Given the description of an element on the screen output the (x, y) to click on. 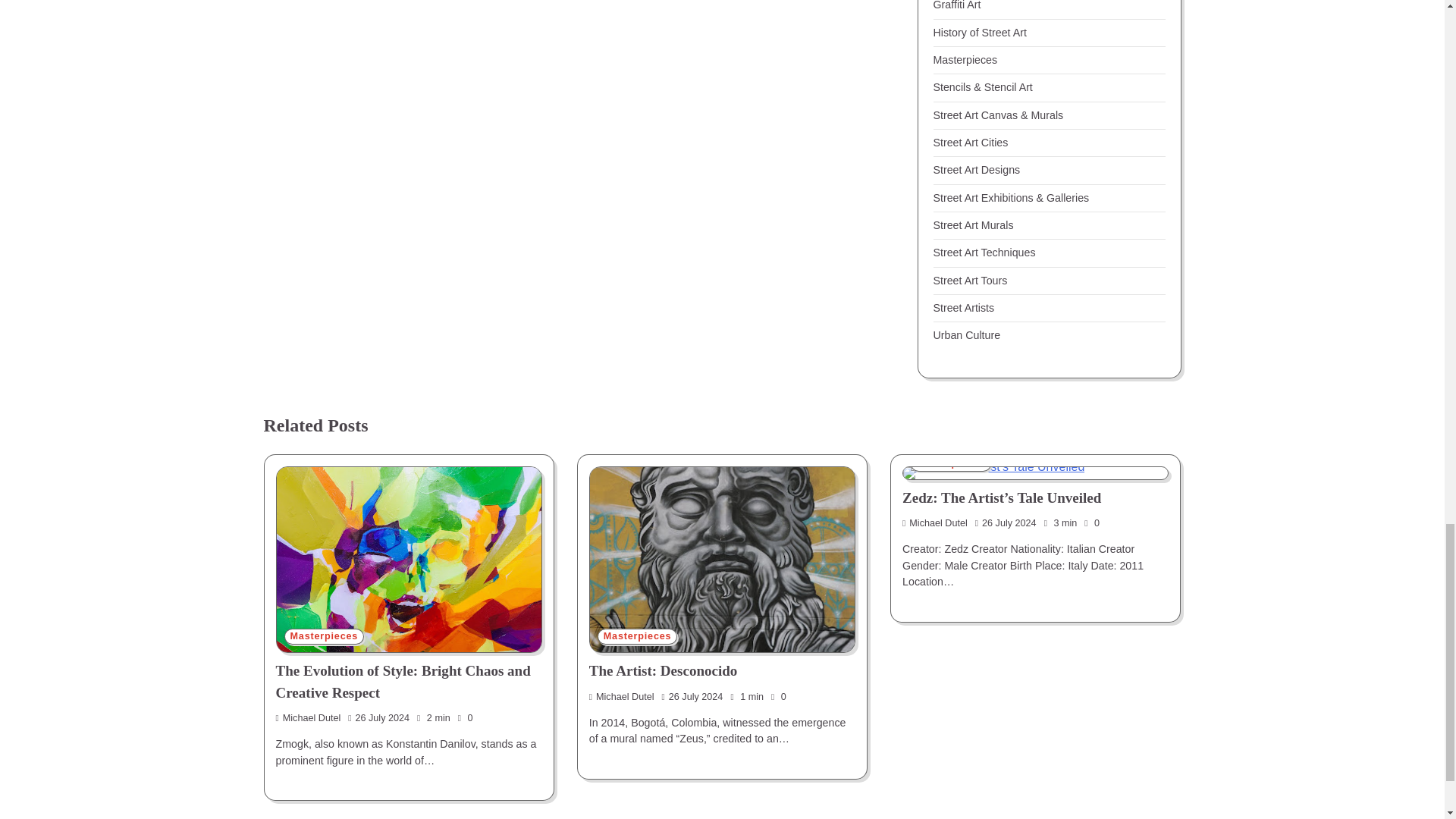
The Evolution of Style: Bright Chaos and Creative Respect (408, 558)
The Artist: Desconocido (721, 558)
